Given the description of an element on the screen output the (x, y) to click on. 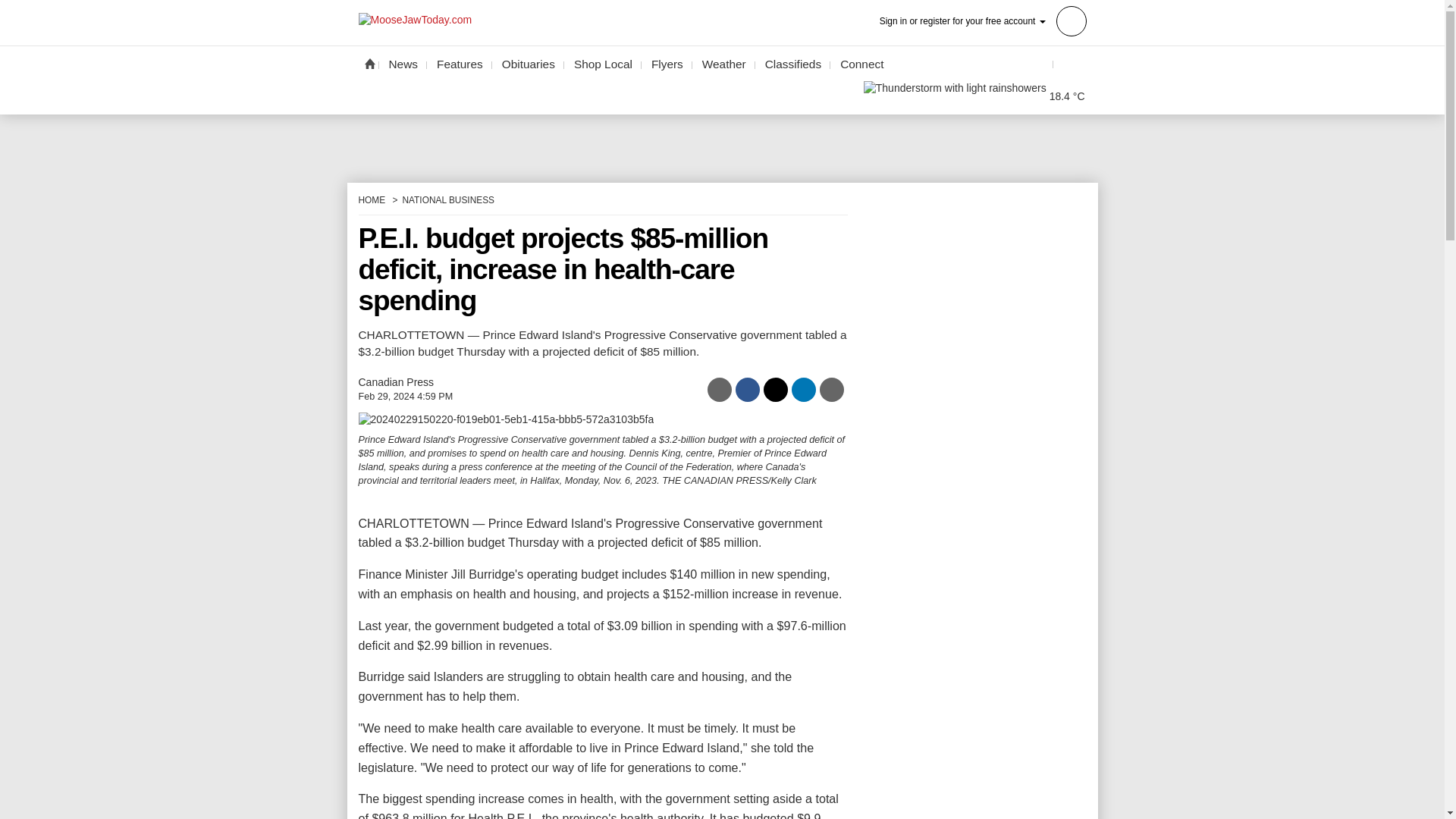
Home (368, 63)
Sign in or register for your free account (982, 20)
Flyers (667, 64)
Obituaries (528, 64)
News (403, 64)
Shop Local (603, 64)
